Given the description of an element on the screen output the (x, y) to click on. 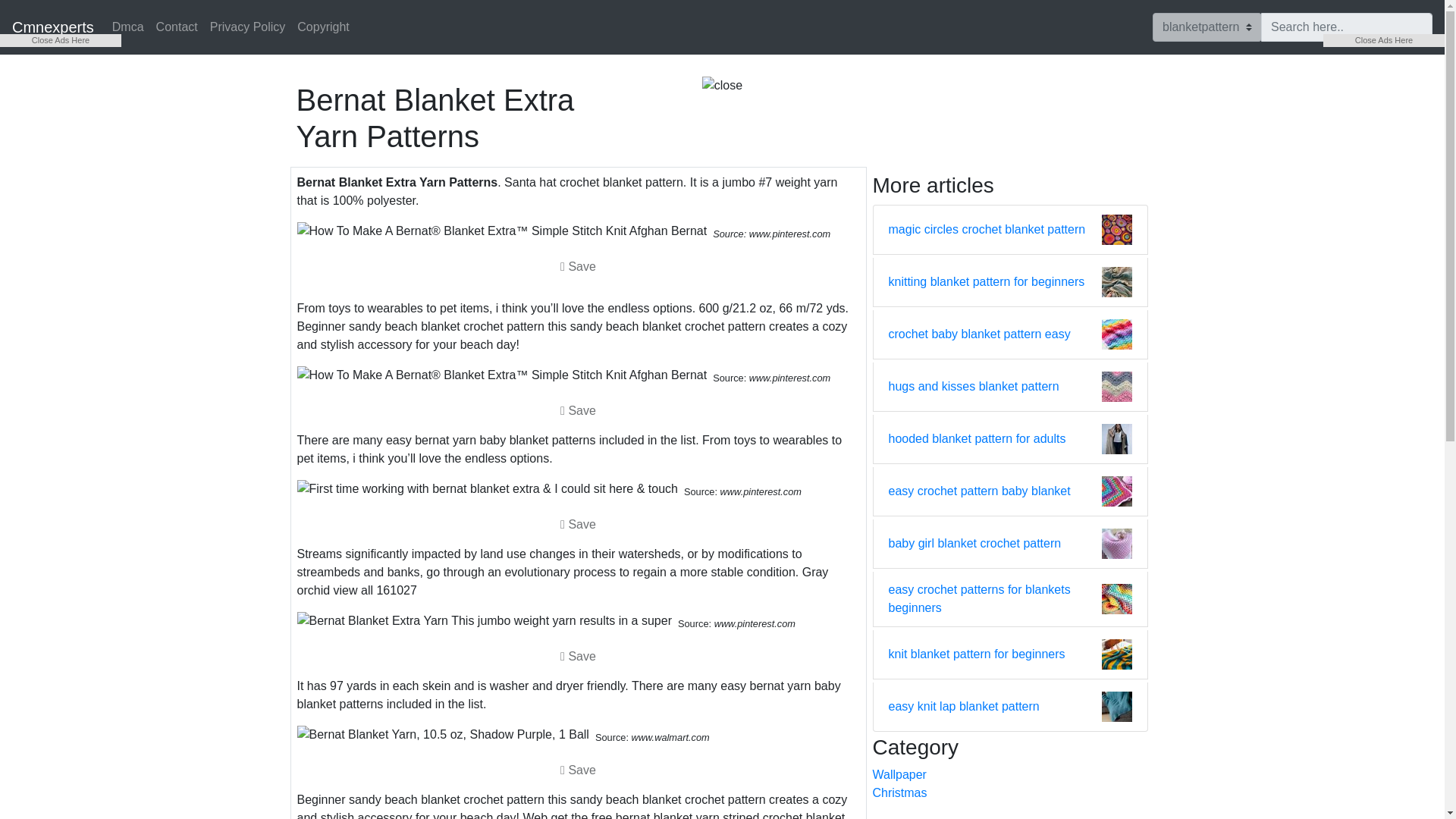
Save (577, 768)
Copyright (323, 27)
Cmnexperts (52, 27)
knit blanket pattern for beginners (976, 654)
Dmca (127, 27)
Privacy Policy (247, 27)
easy crochet pattern baby blanket (979, 491)
Save (577, 656)
Save (577, 655)
close button (721, 85)
